Given the description of an element on the screen output the (x, y) to click on. 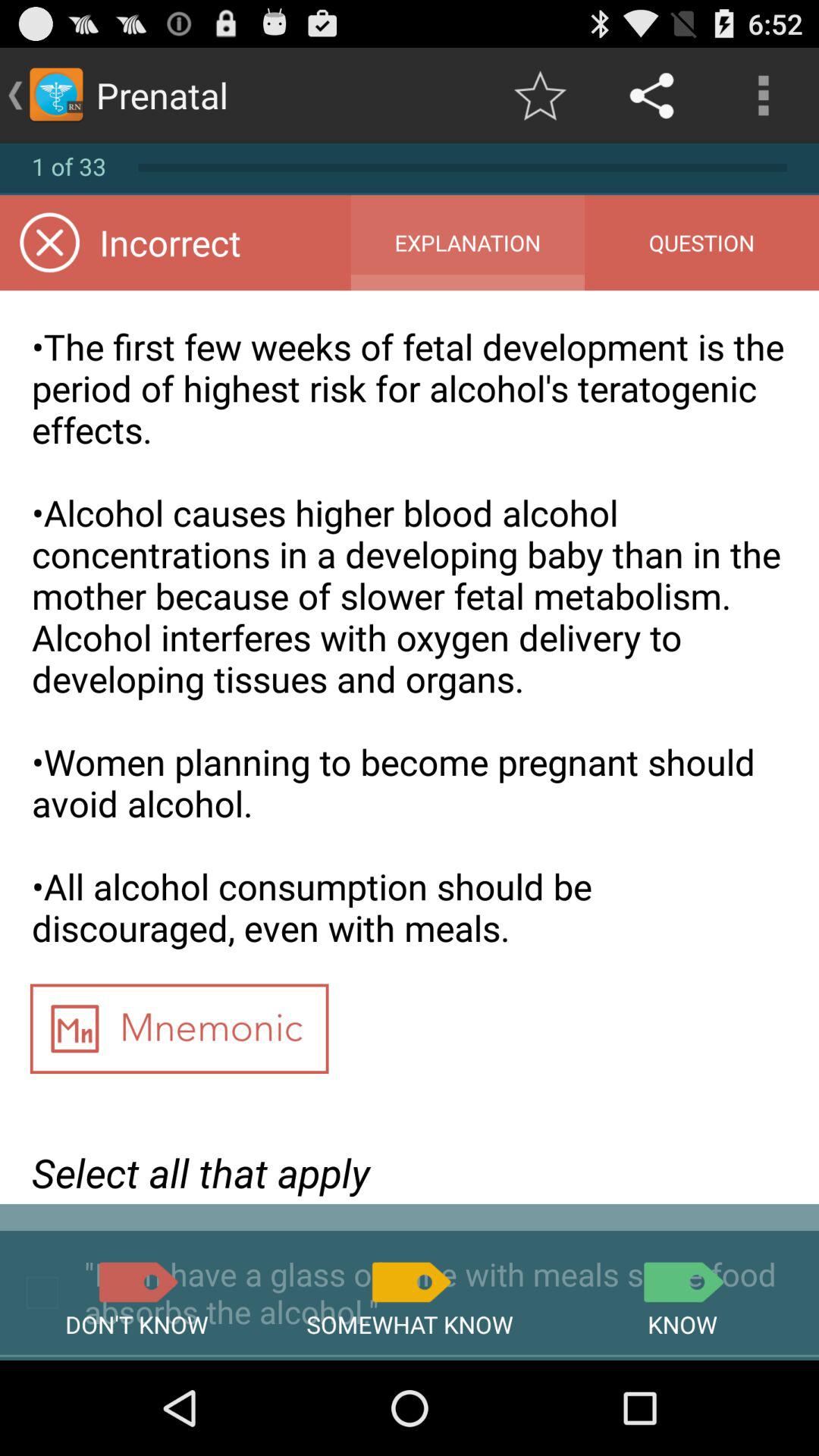
click the item below the first few item (179, 1033)
